Given the description of an element on the screen output the (x, y) to click on. 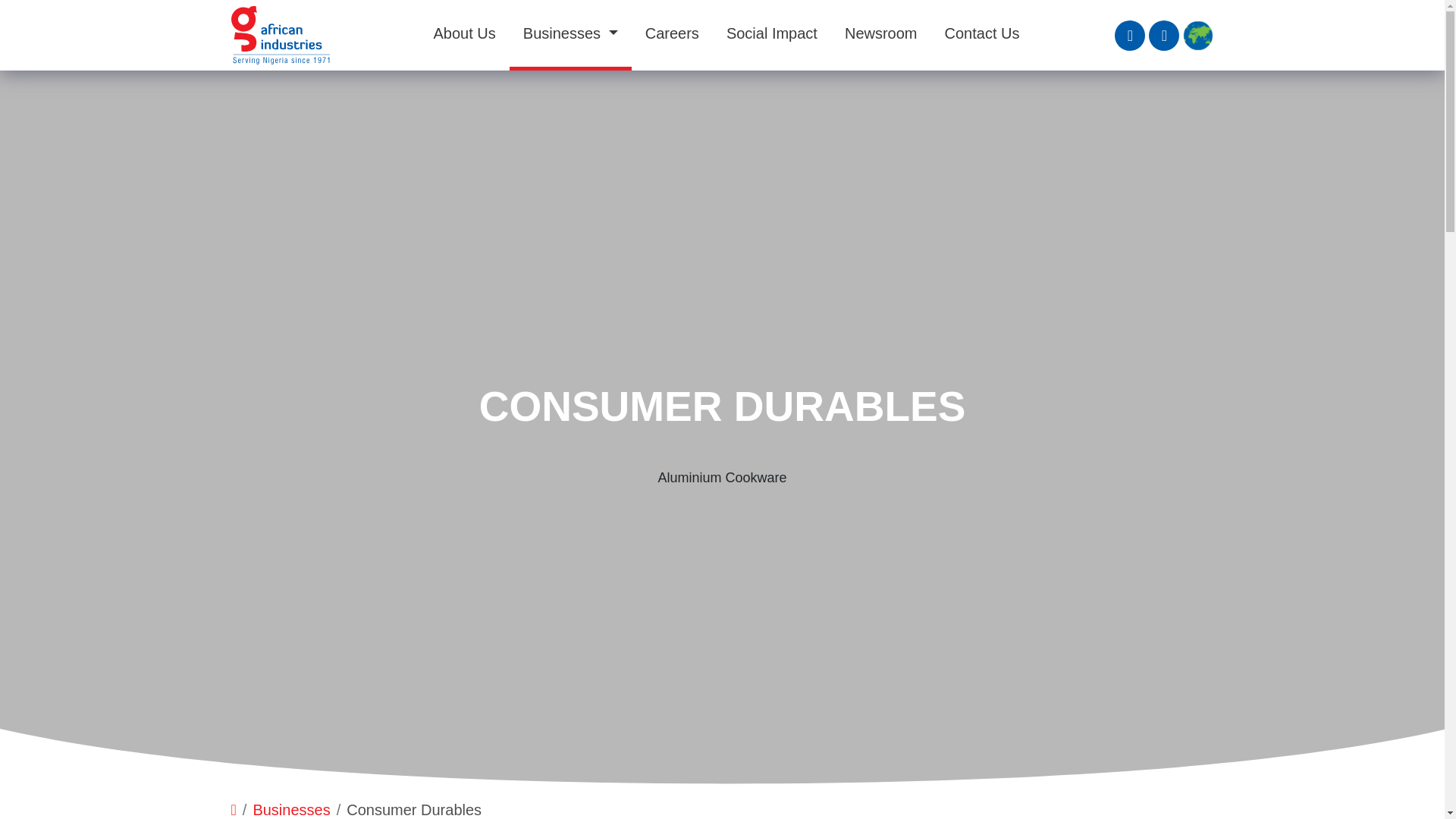
Careers (671, 33)
Contact Us (982, 33)
About Us (465, 33)
Businesses (570, 33)
Social Impact (772, 33)
Businesses (290, 809)
Careers (671, 33)
Newsroom (880, 33)
Businesses (570, 33)
About Us (465, 33)
